Given the description of an element on the screen output the (x, y) to click on. 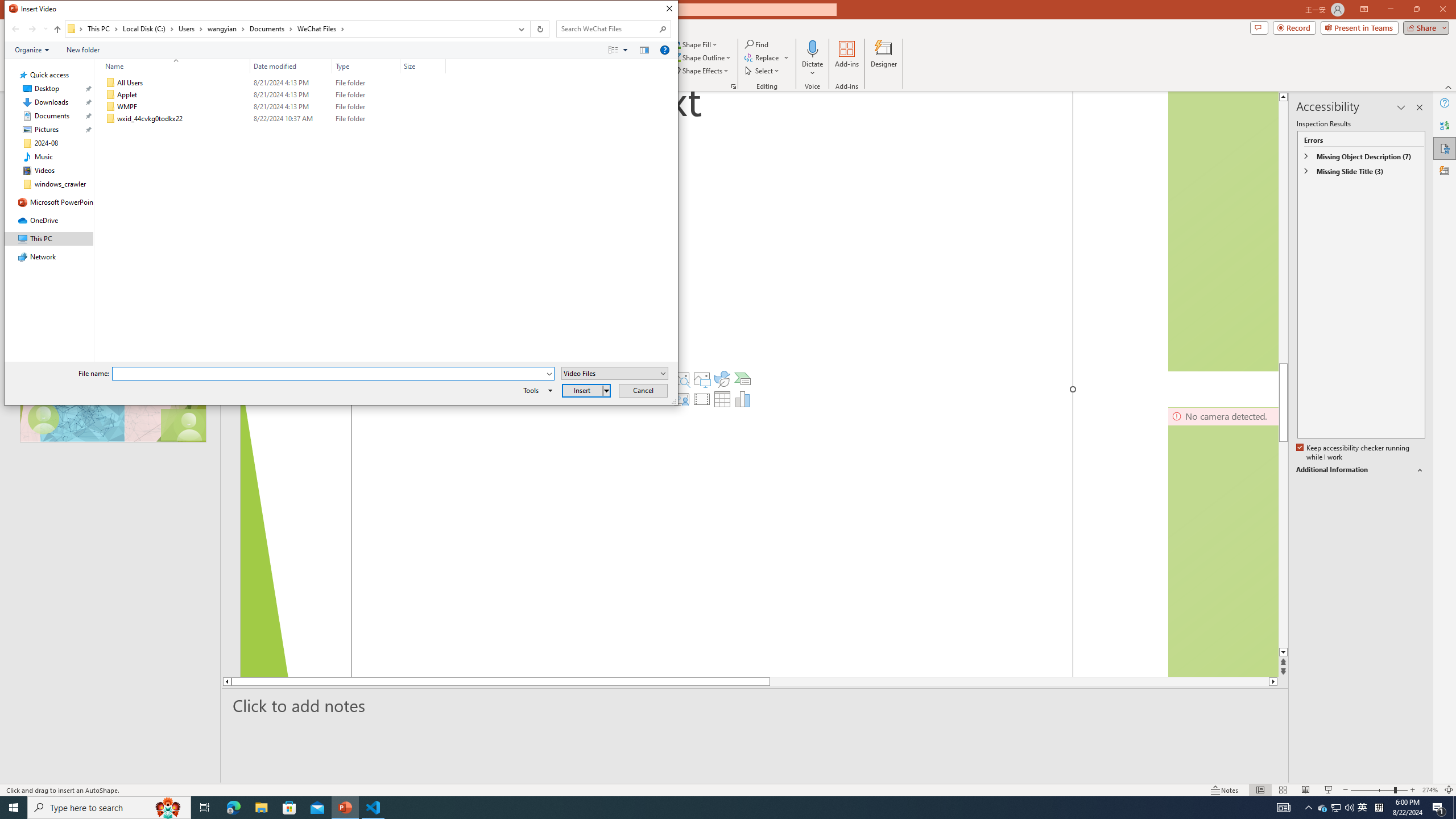
Up band toolbar (57, 30)
Type (365, 119)
Size (422, 65)
Camera 3, No camera detected. (1222, 541)
Files of type: (615, 373)
Preview pane (644, 49)
